Given the description of an element on the screen output the (x, y) to click on. 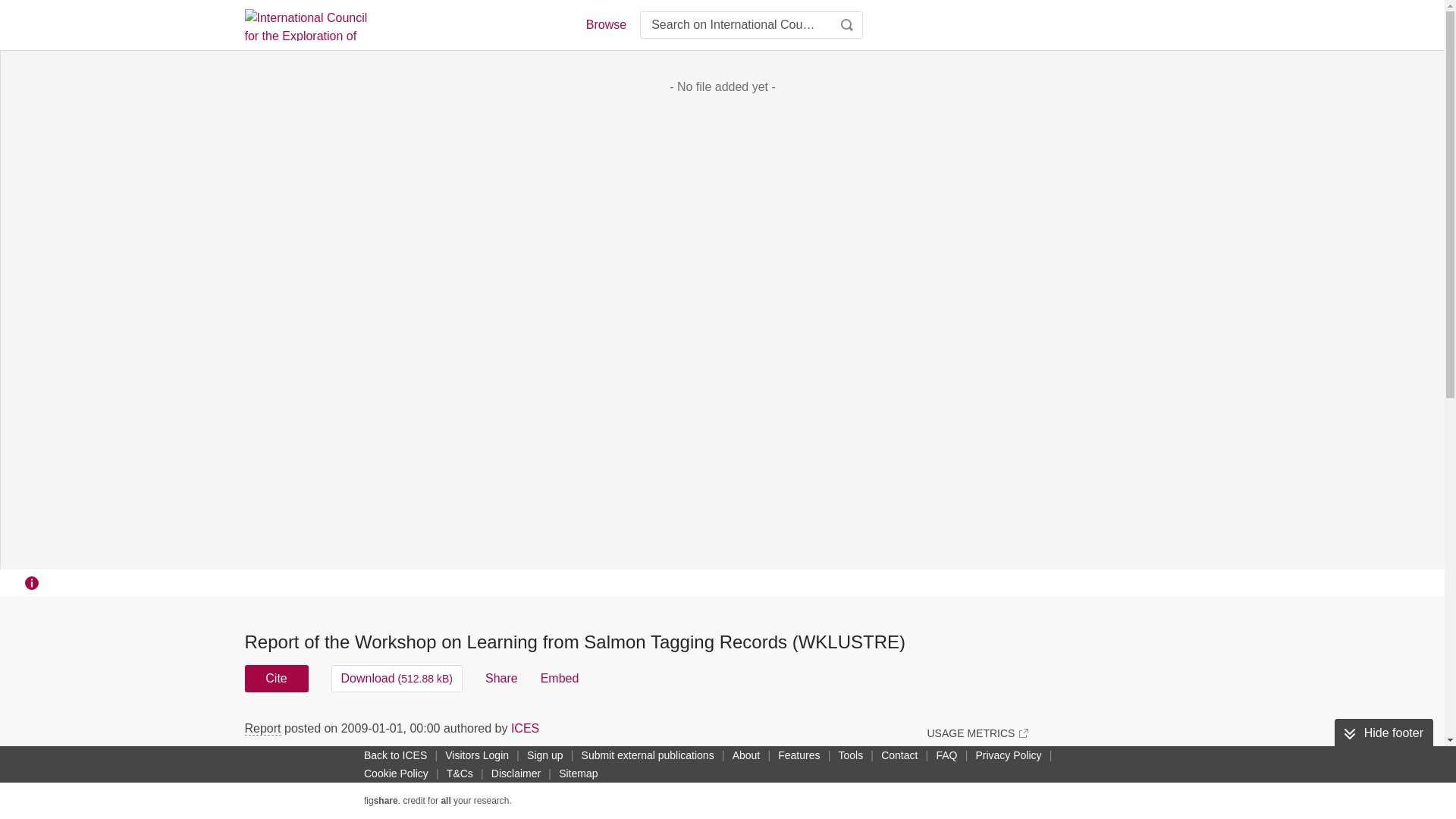
Back to ICES (394, 755)
Privacy Policy (1008, 755)
Cite (275, 678)
Cookie Policy (395, 773)
USAGE METRICS (976, 732)
Embed (559, 678)
Contact (898, 755)
Visitors Login (477, 755)
FAQ (945, 755)
Share (501, 678)
